Given the description of an element on the screen output the (x, y) to click on. 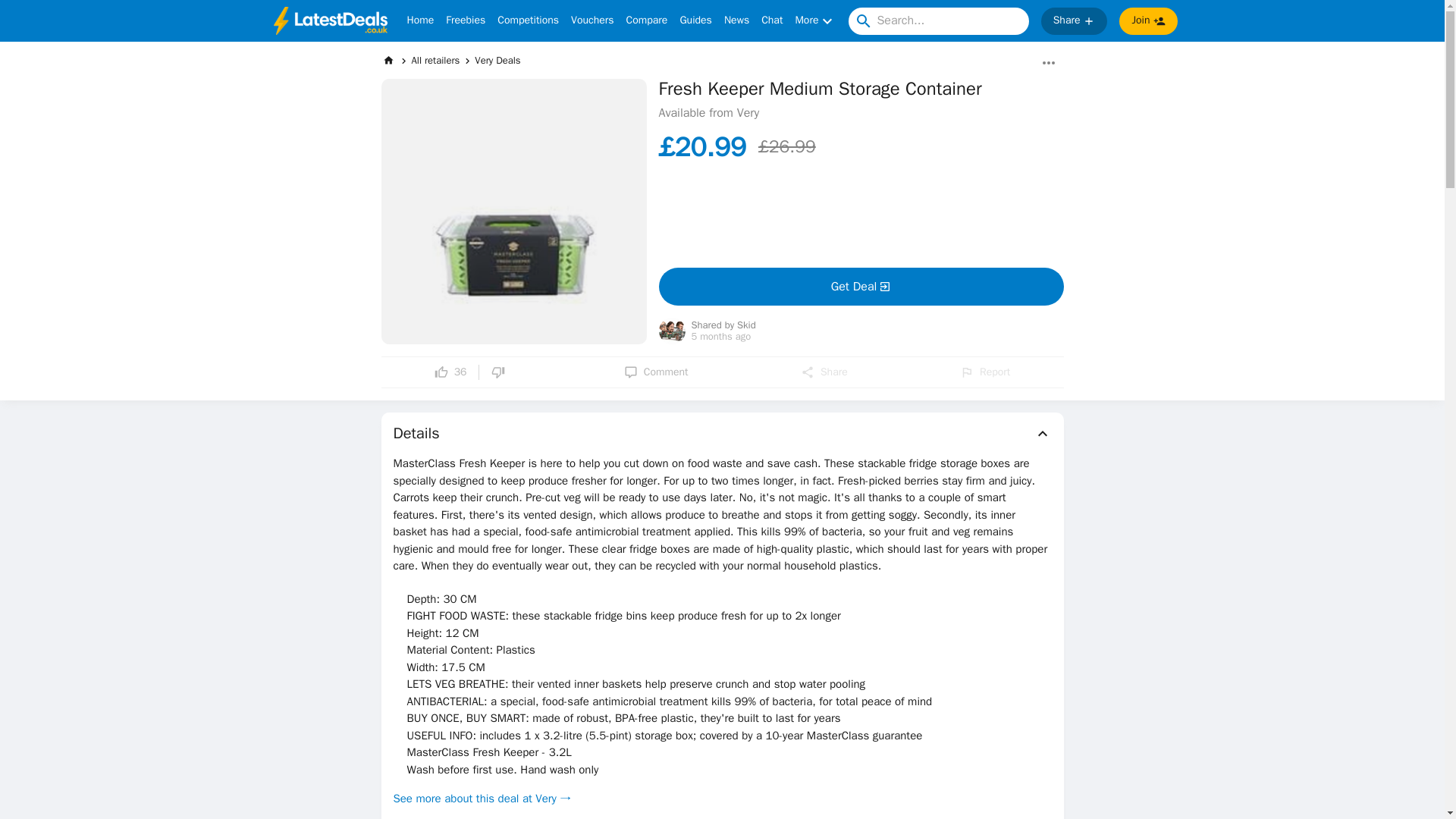
All retailers (435, 60)
Compare (647, 21)
Very Deals (496, 60)
Home (419, 21)
Details (722, 434)
Guides (695, 21)
Shared by Skid (723, 325)
Join (1147, 21)
Share (1074, 21)
Comment (656, 371)
36 (450, 372)
Competitions (528, 21)
Chat (772, 21)
Freebies (464, 21)
Share (823, 371)
